Given the description of an element on the screen output the (x, y) to click on. 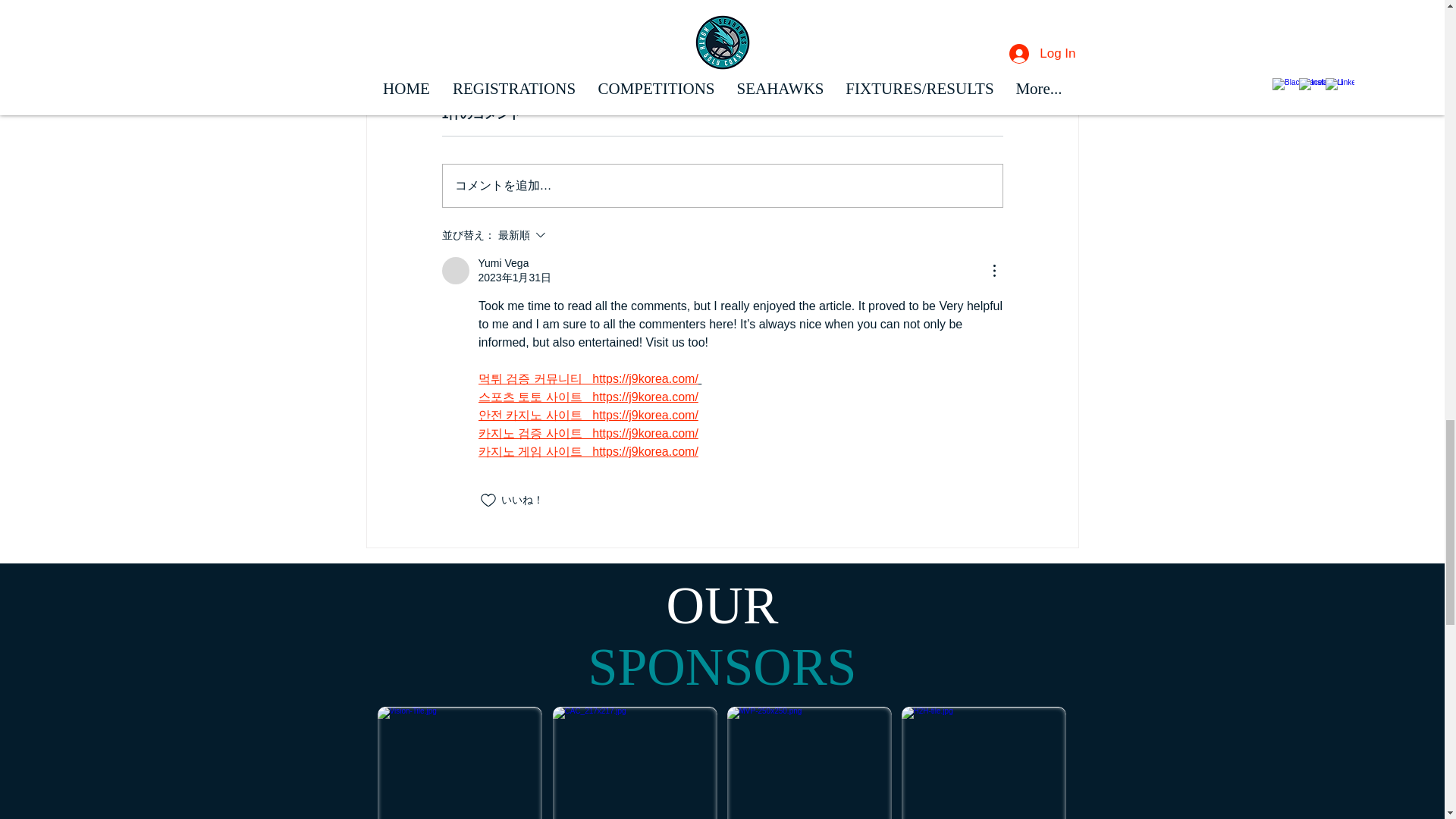
Yumi Vega (454, 270)
